Given the description of an element on the screen output the (x, y) to click on. 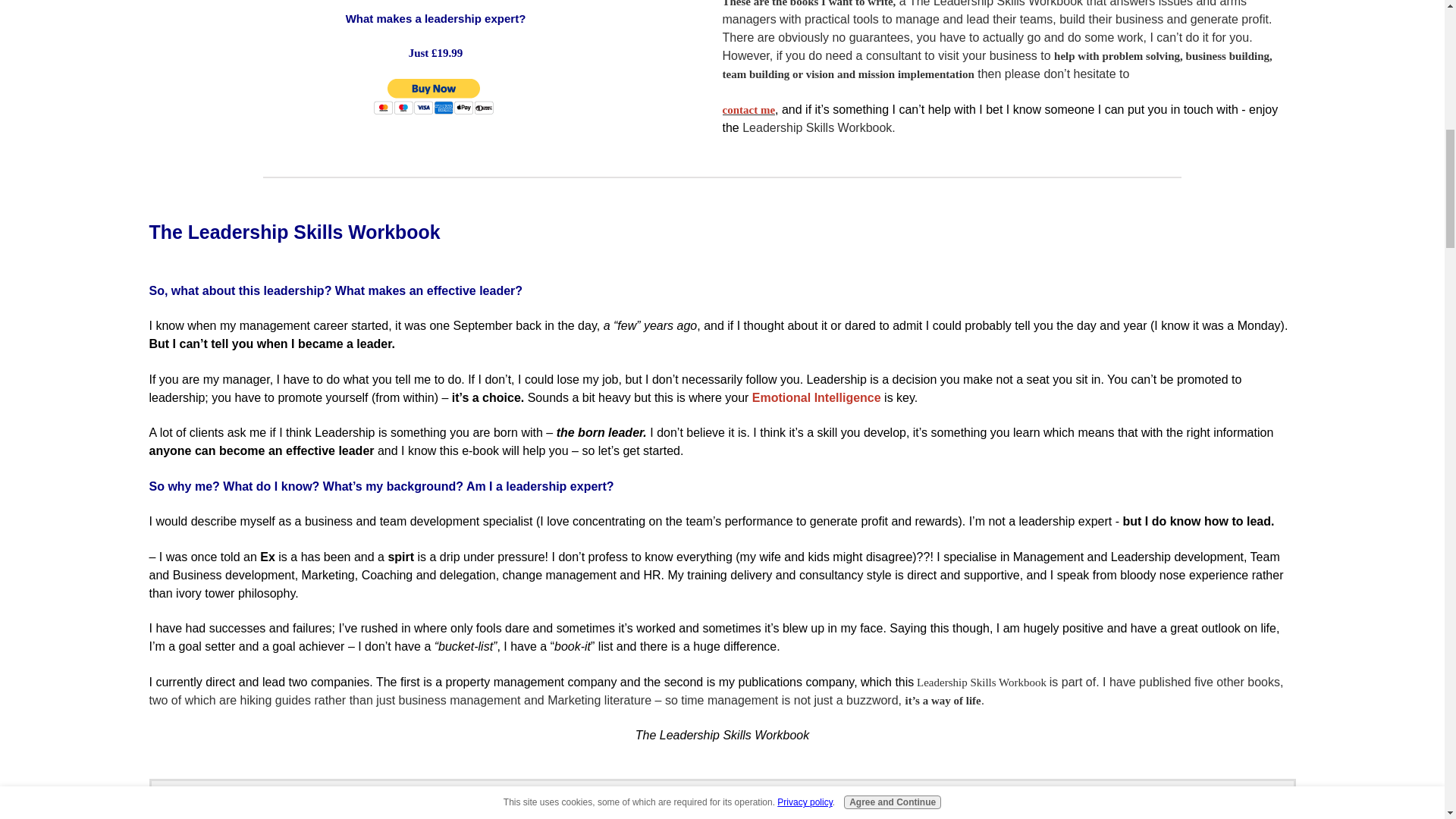
Emotional Intelligence (816, 397)
contact me (748, 109)
